Given the description of an element on the screen output the (x, y) to click on. 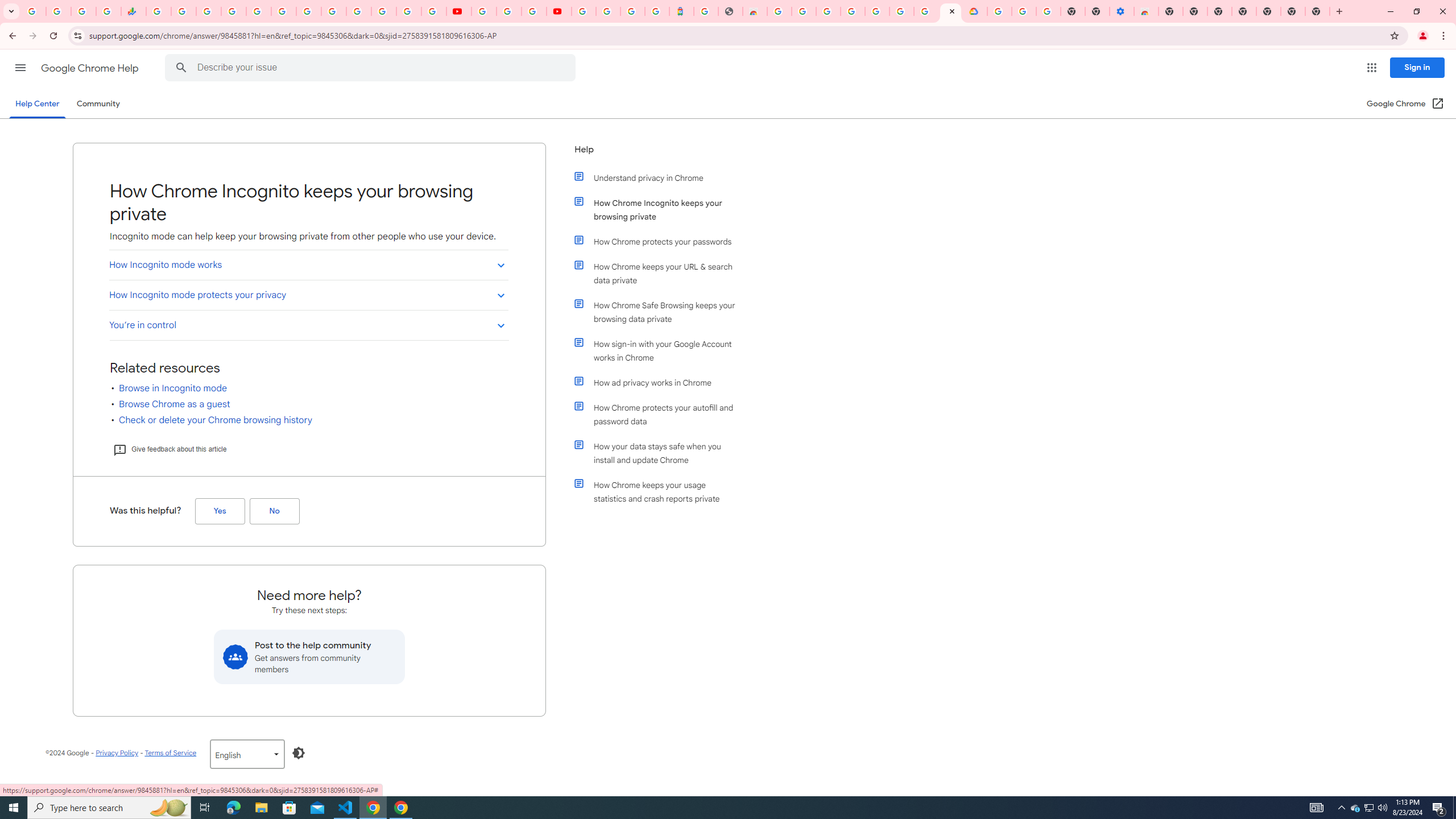
Search Help Center (181, 67)
How Incognito mode protects your privacy (308, 294)
Google Account Help (1023, 11)
How sign-in with your Google Account works in Chrome (661, 350)
Privacy Checkup (433, 11)
How Incognito mode works (308, 264)
